Given the description of an element on the screen output the (x, y) to click on. 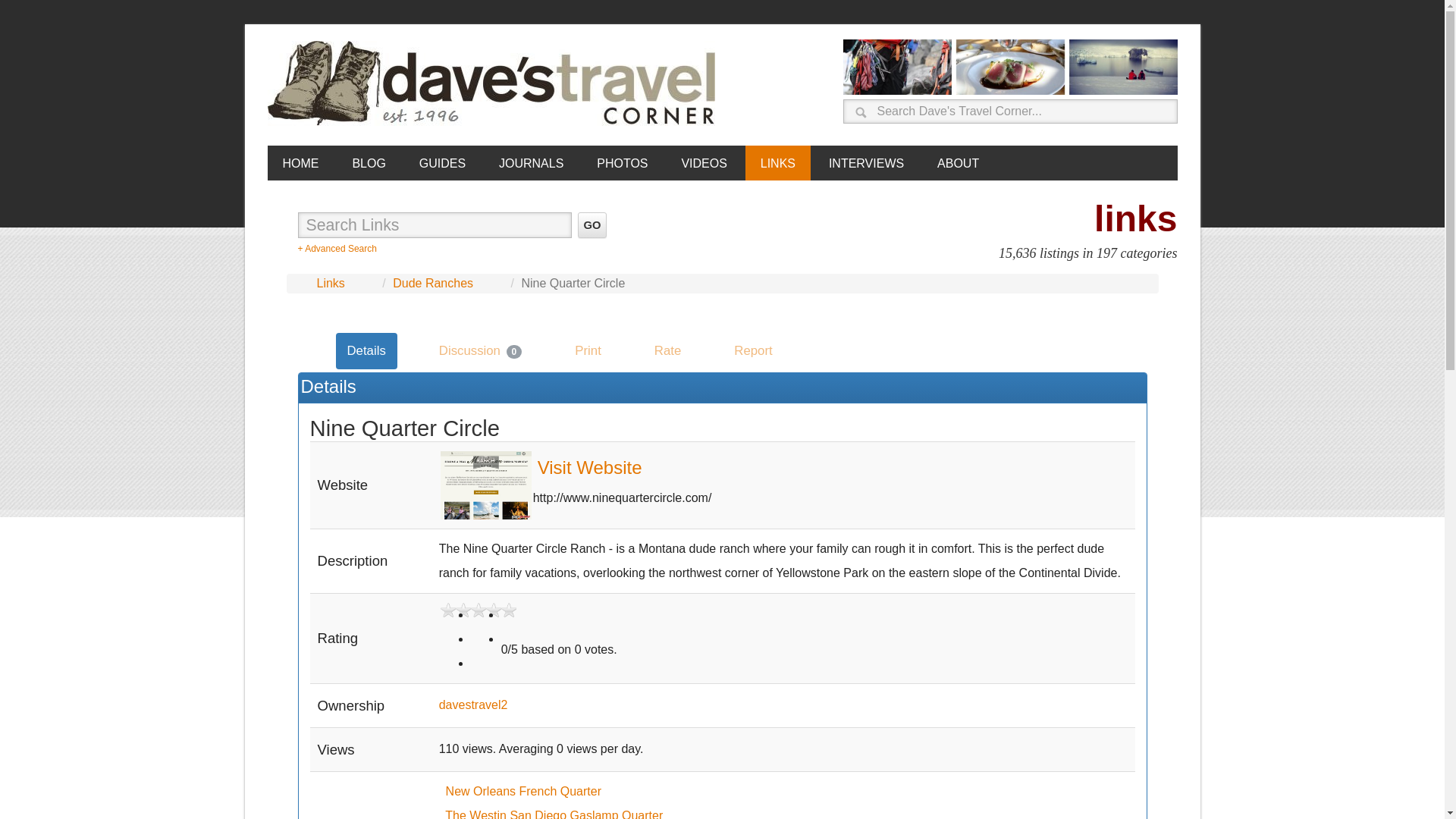
Dude Ranches (433, 282)
Details (365, 350)
5 (508, 658)
Print (587, 350)
BLOG (368, 162)
VIDEOS (703, 162)
3 (478, 634)
GUIDES (442, 162)
The Westin San Diego Gaslamp Quarter (553, 814)
